Given the description of an element on the screen output the (x, y) to click on. 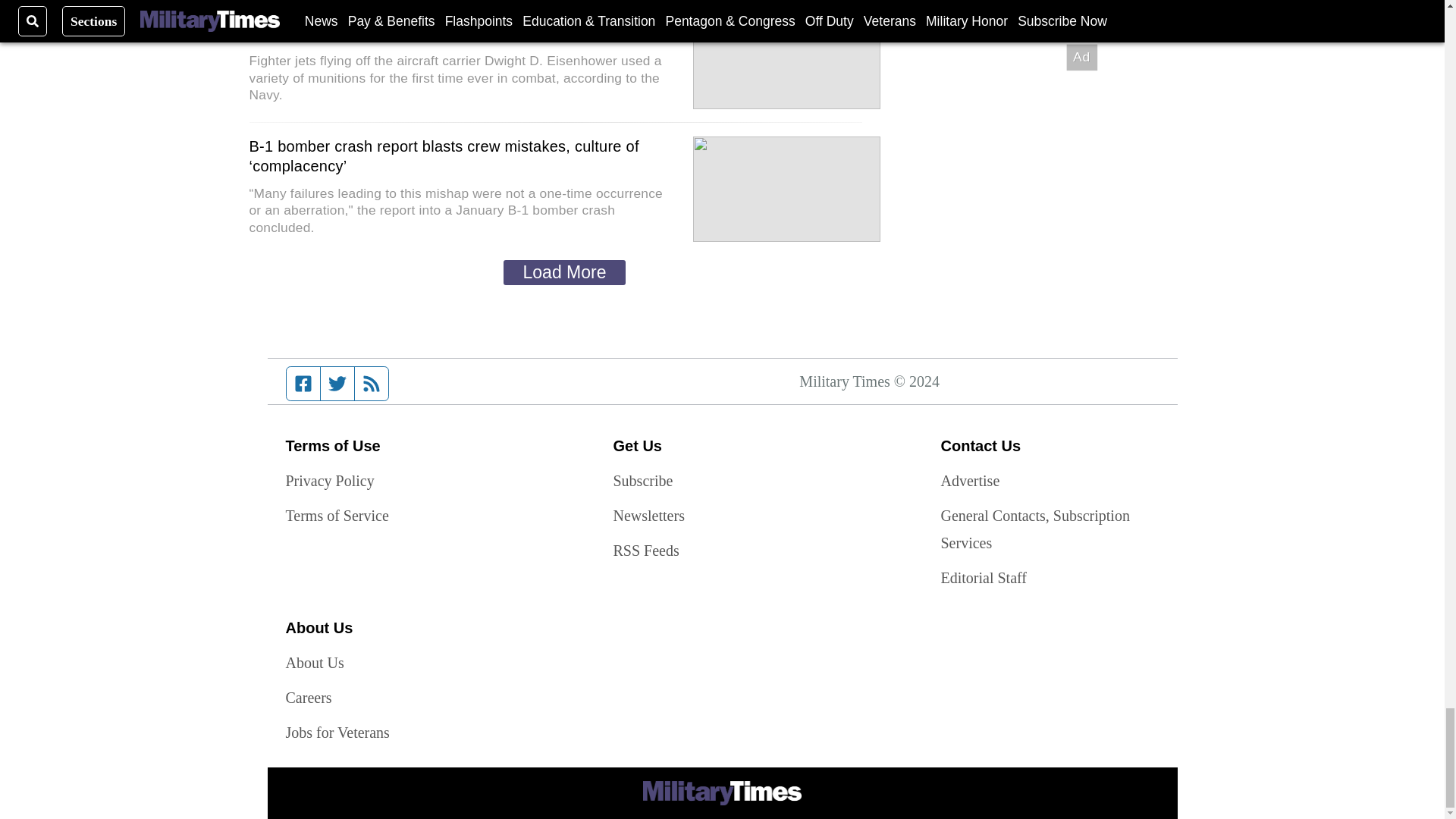
RSS feed (371, 383)
Twitter feed (336, 383)
Facebook page (303, 383)
